Given the description of an element on the screen output the (x, y) to click on. 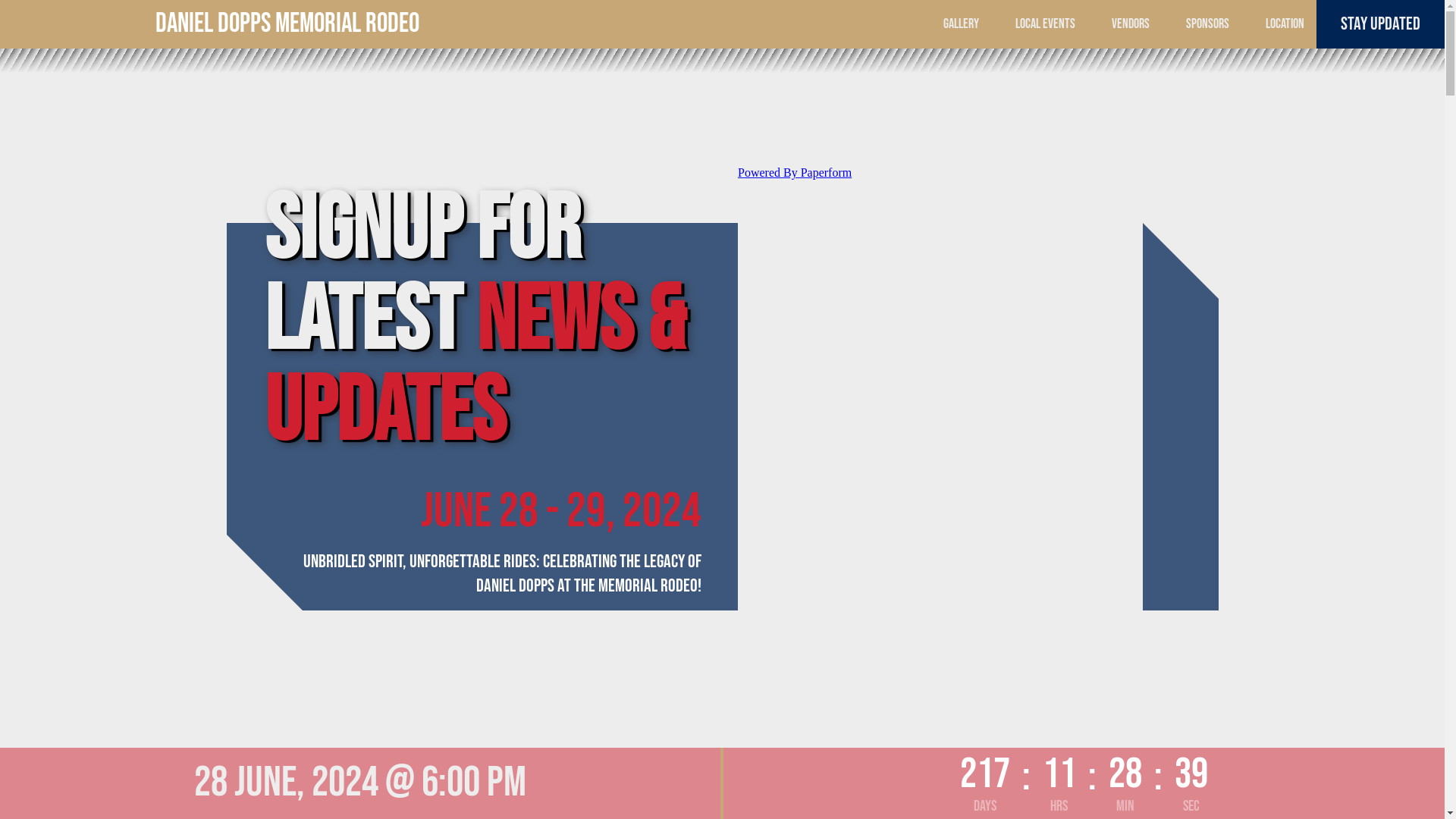
GALLERY Element type: text (961, 23)
Daniel Dopps Memorial Rodeo Element type: hover (68, 59)
Embedded form Element type: hover (939, 278)
STAY UPDATED Element type: text (1380, 24)
VENDORS Element type: text (1130, 23)
LOCAL EVENTS Element type: text (1045, 23)
LOCATION Element type: text (1284, 23)
SPONSORS Element type: text (1207, 23)
DANIEL DOPPS MEMORIAL RODEO Element type: text (287, 23)
